Given the description of an element on the screen output the (x, y) to click on. 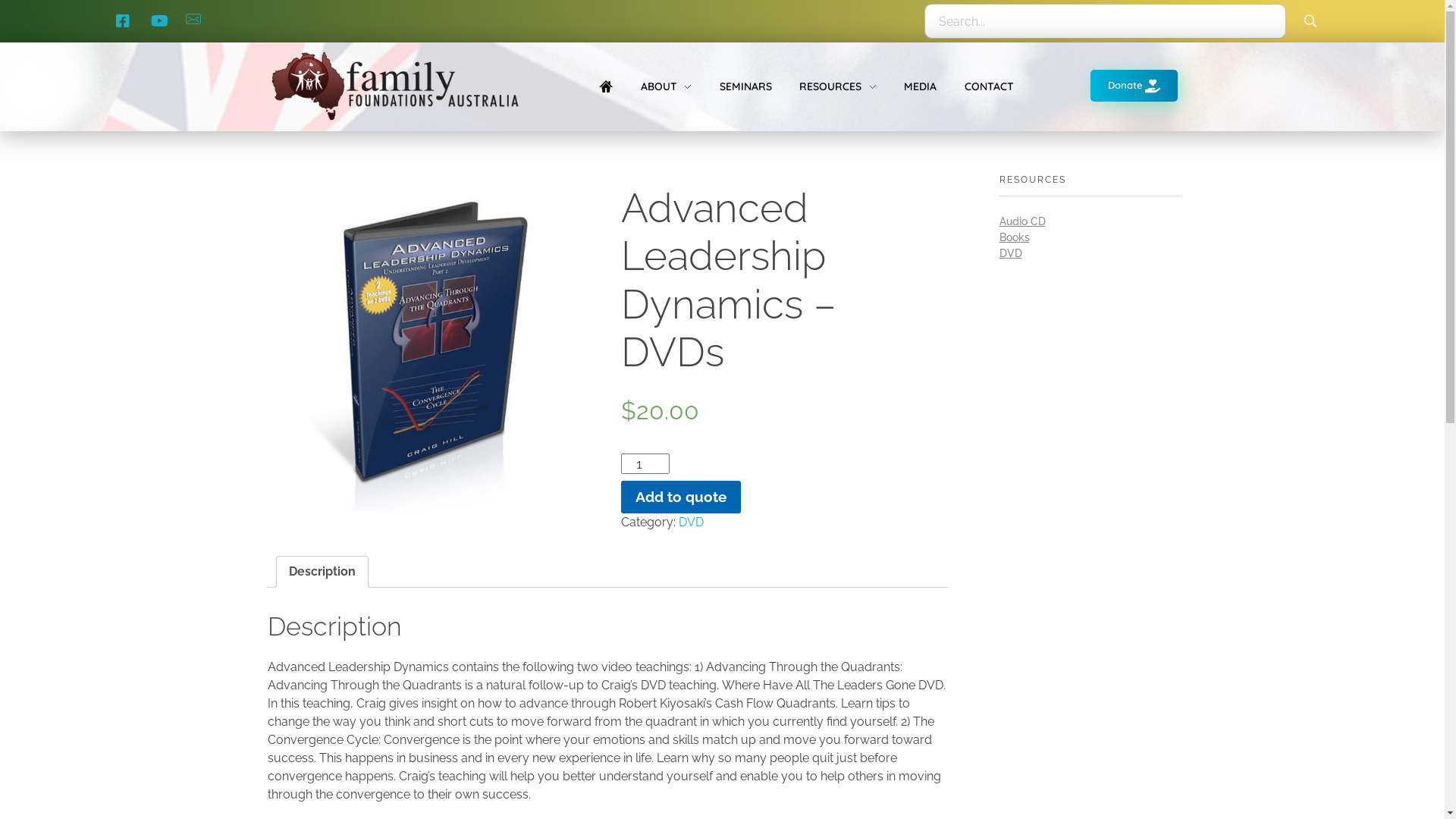
Audio CD Element type: text (1022, 221)
MEDIA Element type: text (920, 86)
ABOUT Element type: text (665, 86)
RESOURCES Element type: text (837, 86)
Search Element type: text (1313, 20)
Family Foundations International (Australia) Element type: text (443, 132)
advanced-leadership-dynamics Element type: hover (429, 347)
Add to quote Element type: text (680, 496)
Description Element type: text (321, 571)
Family Foundations International (Australia) Element type: hover (394, 85)
DVD Element type: text (1010, 253)
CONTACT Element type: text (981, 86)
Donate Element type: text (1133, 85)
Books Element type: text (1014, 237)
SEMINARS Element type: text (745, 86)
DVD Element type: text (690, 521)
